Given the description of an element on the screen output the (x, y) to click on. 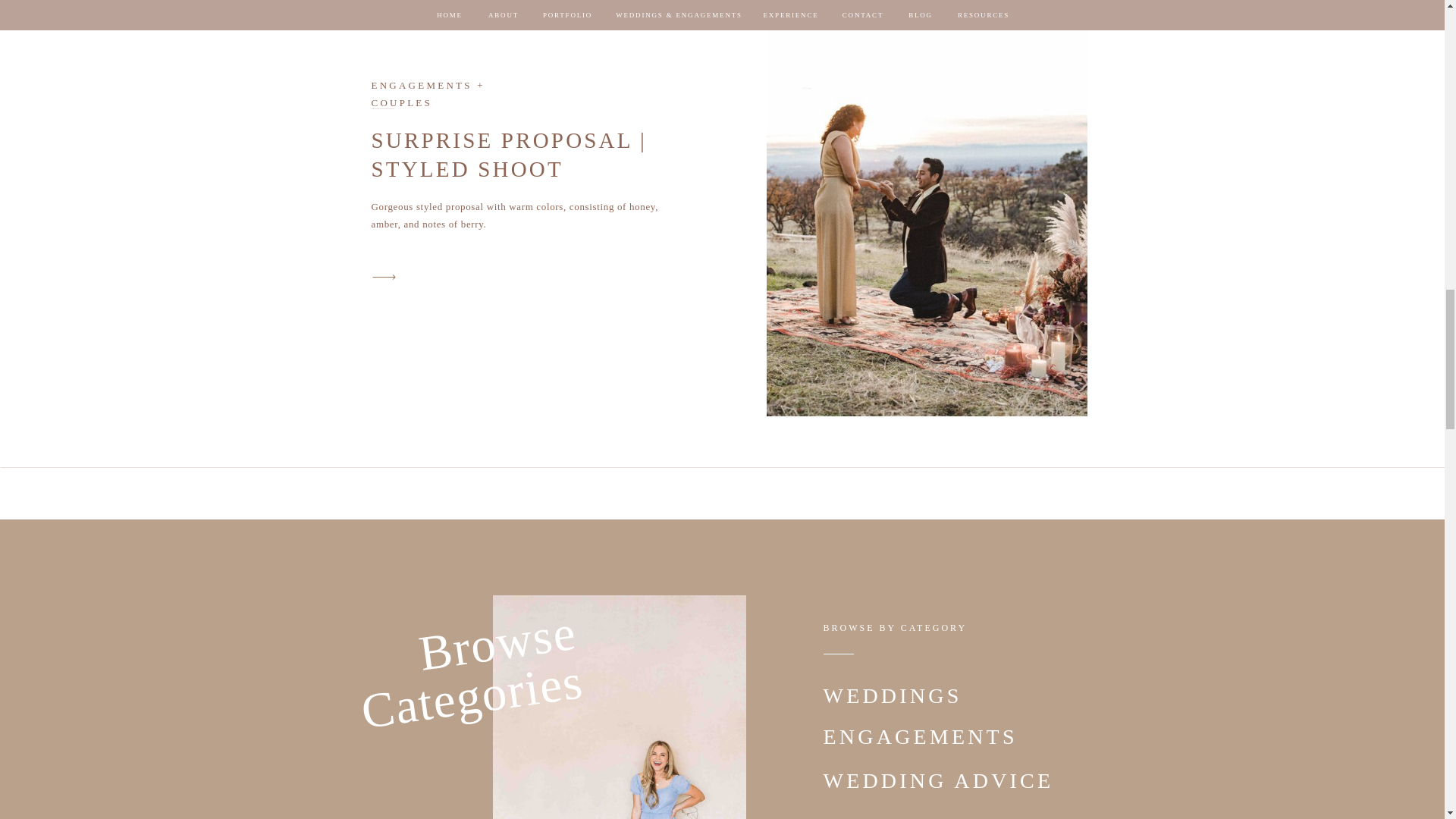
arrow (383, 277)
